Given the description of an element on the screen output the (x, y) to click on. 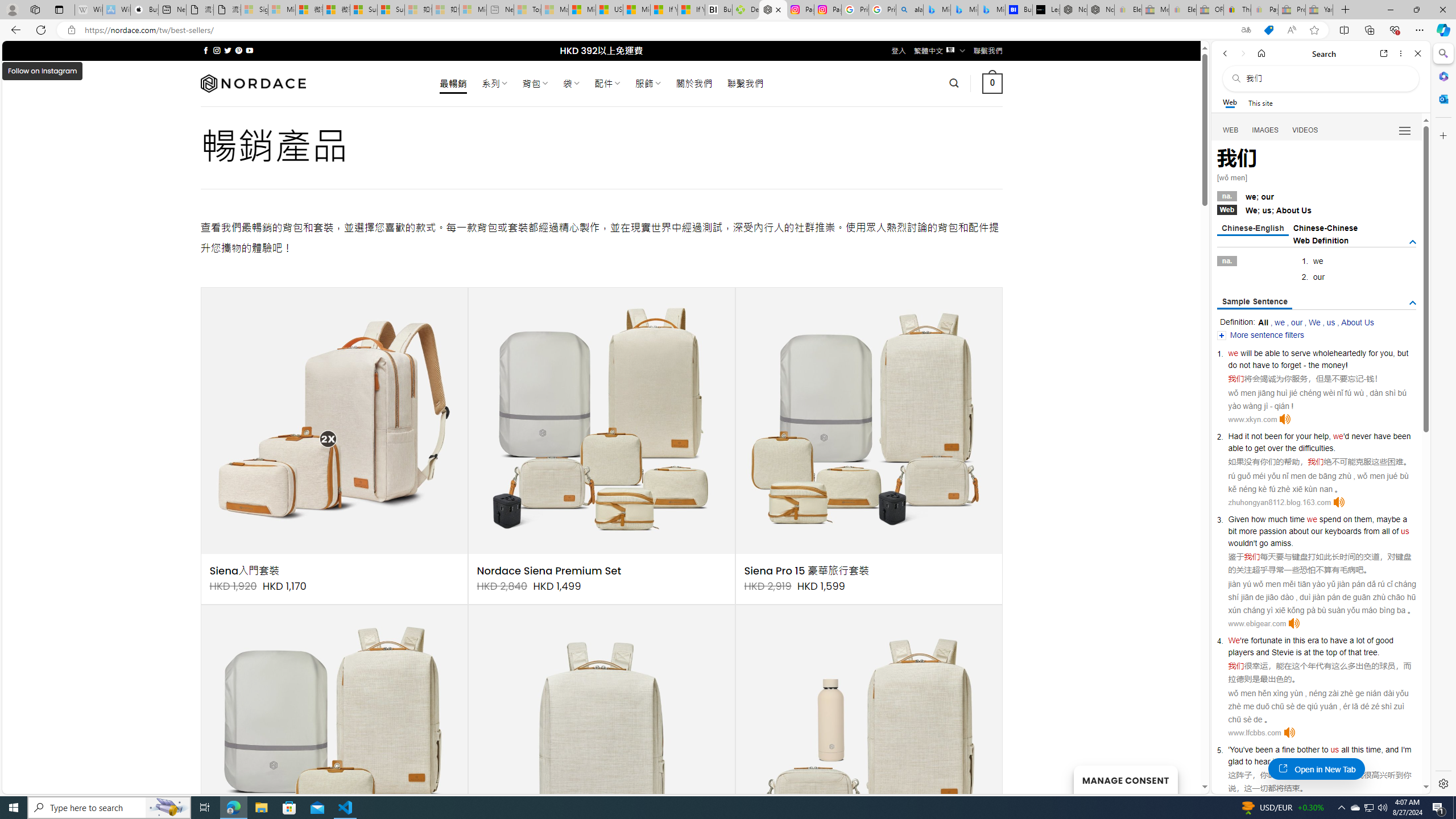
keyboards (1342, 530)
not (1256, 435)
is (1298, 651)
for (1372, 352)
 0  (992, 83)
